Given the description of an element on the screen output the (x, y) to click on. 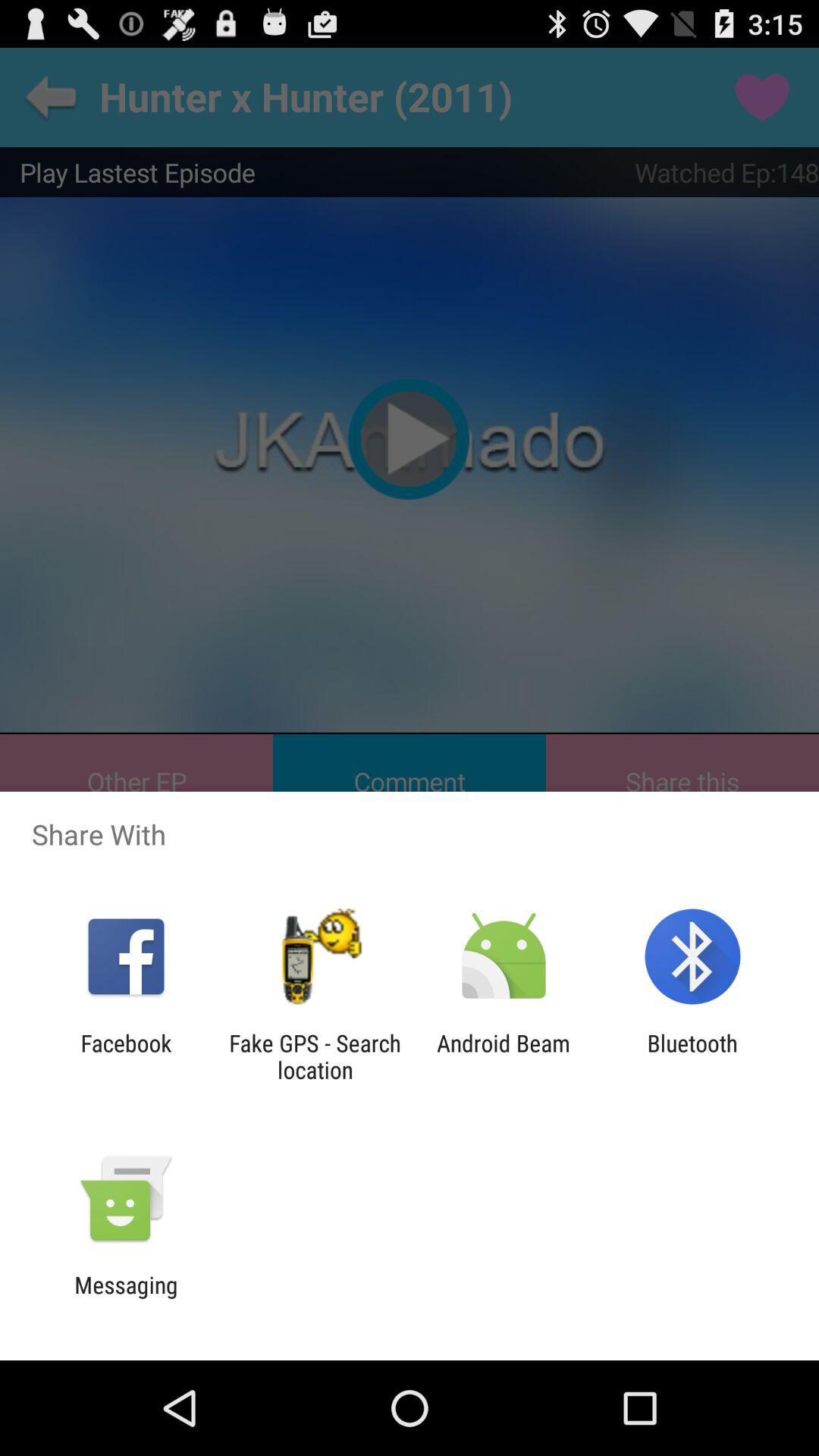
turn off fake gps search icon (314, 1056)
